Given the description of an element on the screen output the (x, y) to click on. 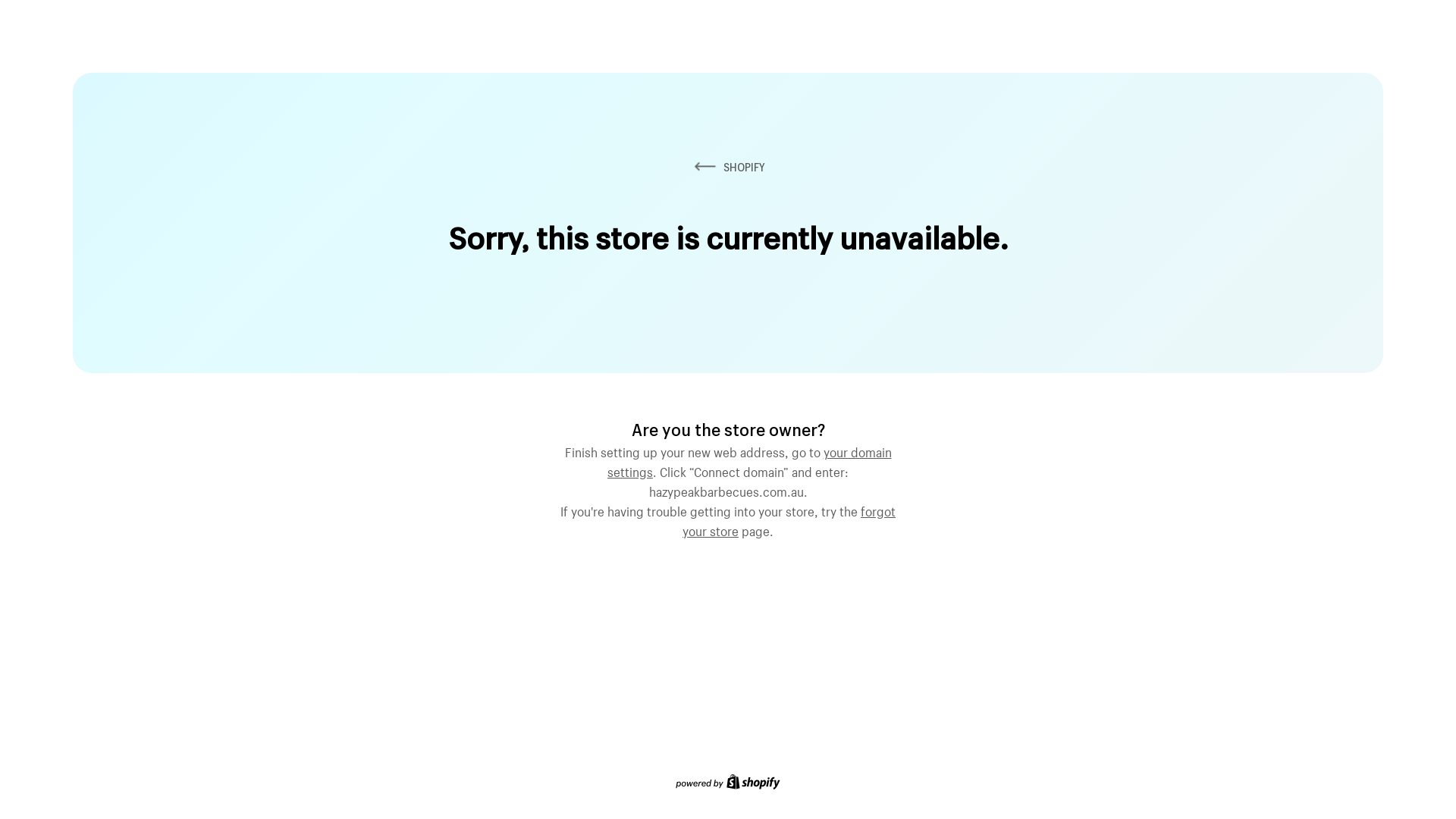
SHOPIFY Element type: text (727, 167)
your domain settings Element type: text (749, 460)
forgot your store Element type: text (788, 519)
